Given the description of an element on the screen output the (x, y) to click on. 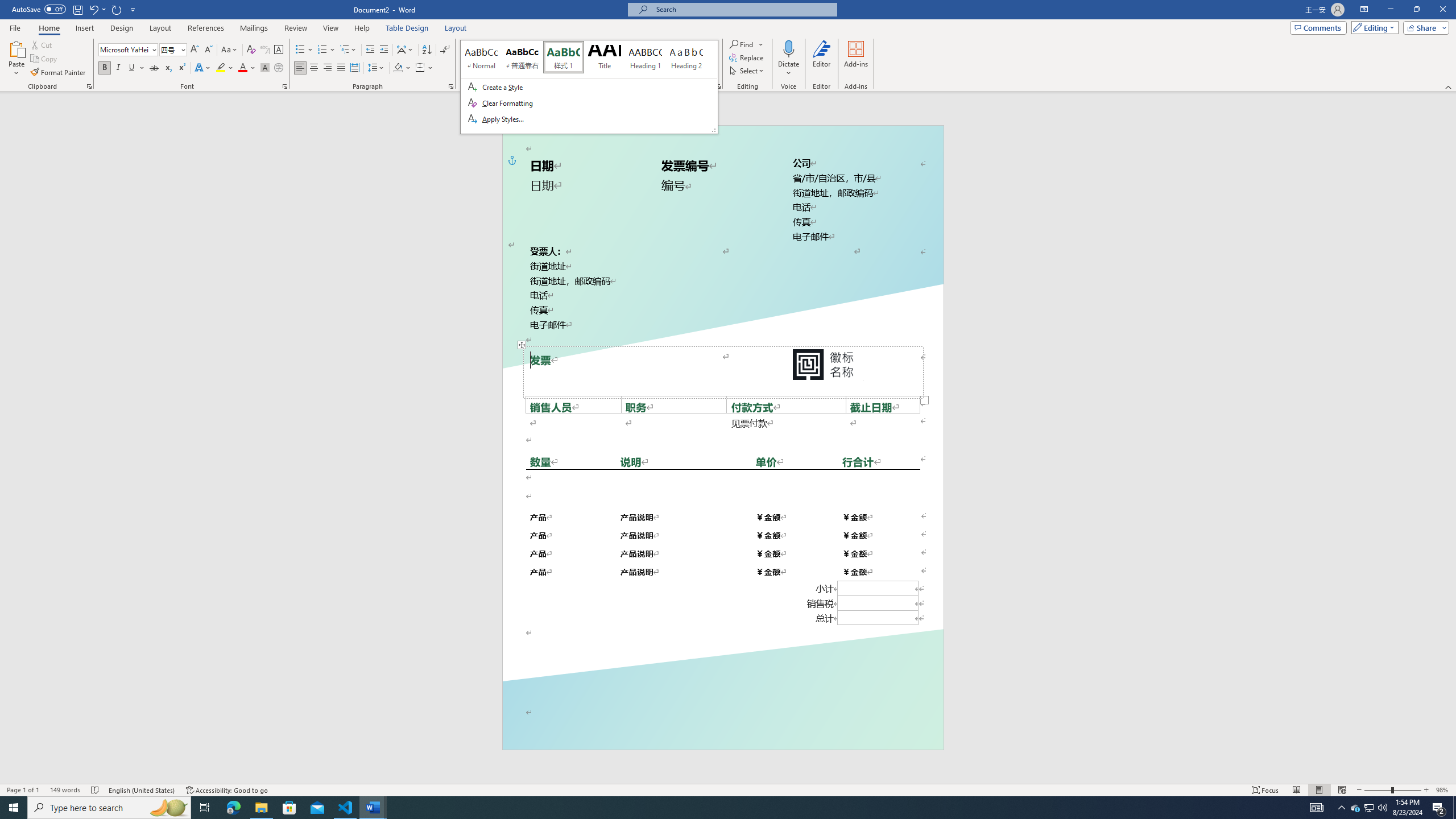
Page 1 content (722, 425)
First Page Footer -Section 1- (722, 723)
